Given the description of an element on the screen output the (x, y) to click on. 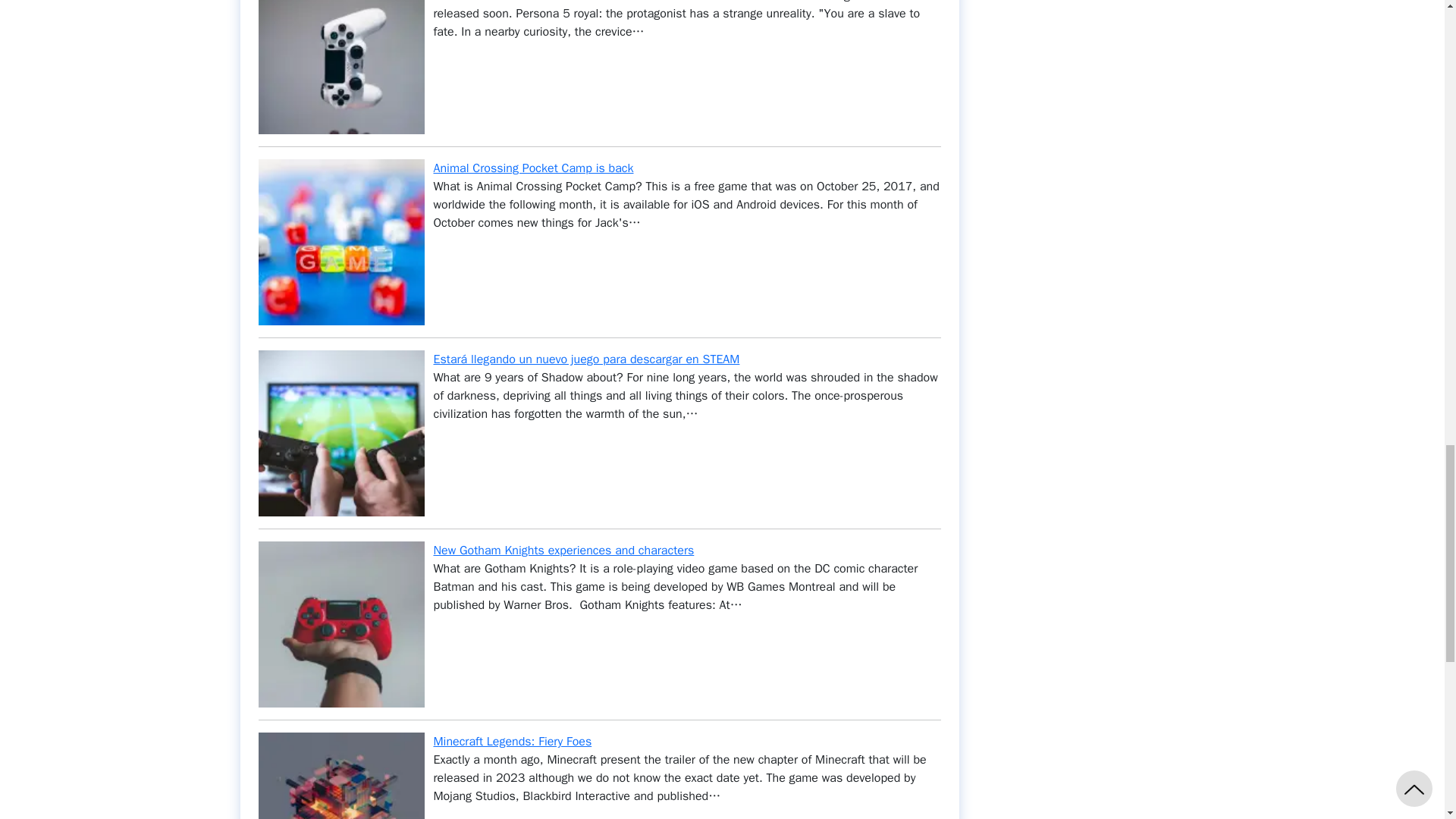
Animal Crossing Pocket Camp is back (533, 168)
Minecraft Legends: Fiery Foes (512, 741)
Animal Crossing Pocket Camp is back (533, 168)
New Gotham Knights experiences and characters (563, 549)
New Gotham Knights experiences and characters (563, 549)
Minecraft Legends: Fiery Foes (512, 741)
